Given the description of an element on the screen output the (x, y) to click on. 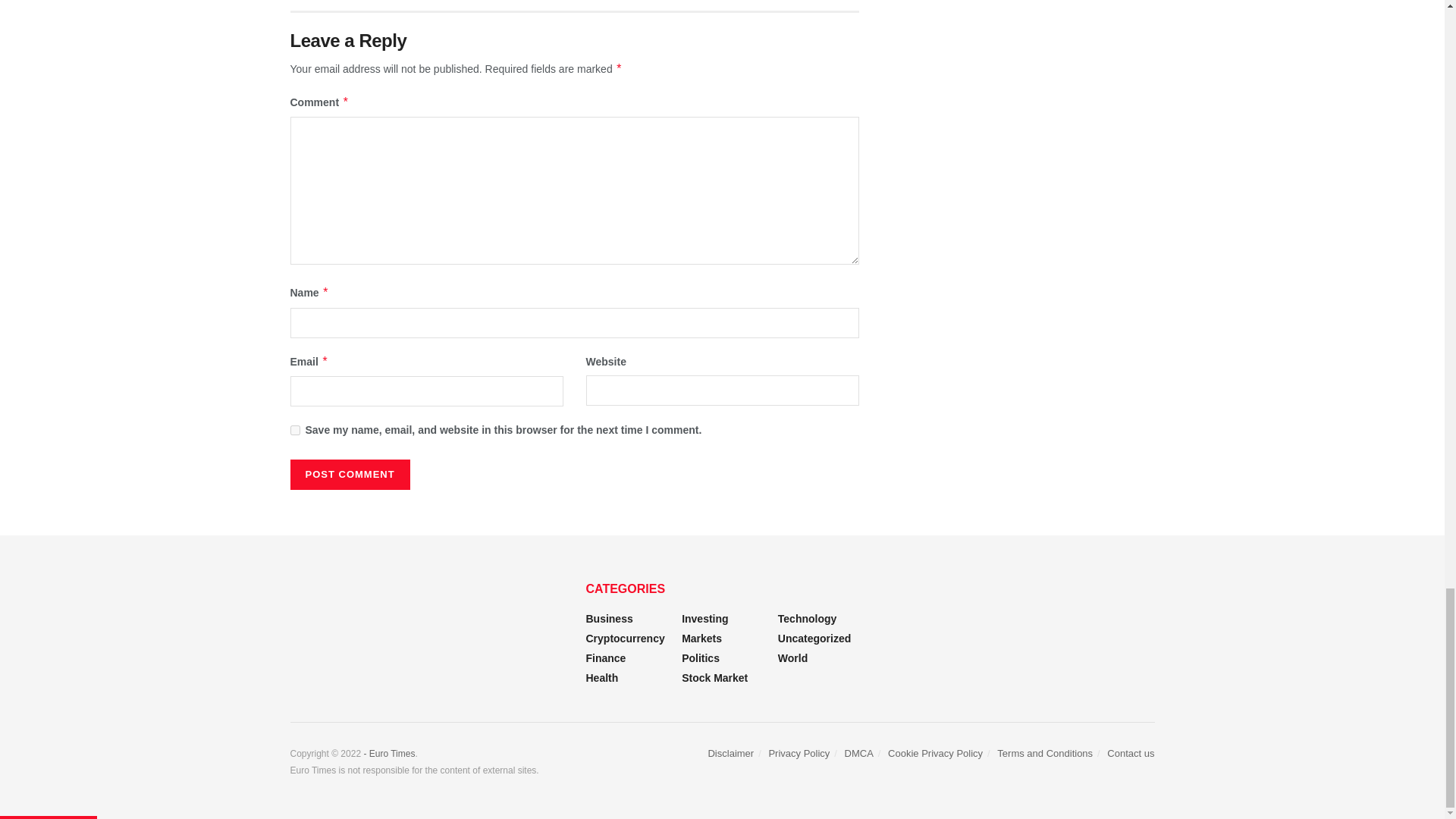
Euro Times (388, 753)
yes (294, 429)
Post Comment (349, 474)
